Given the description of an element on the screen output the (x, y) to click on. 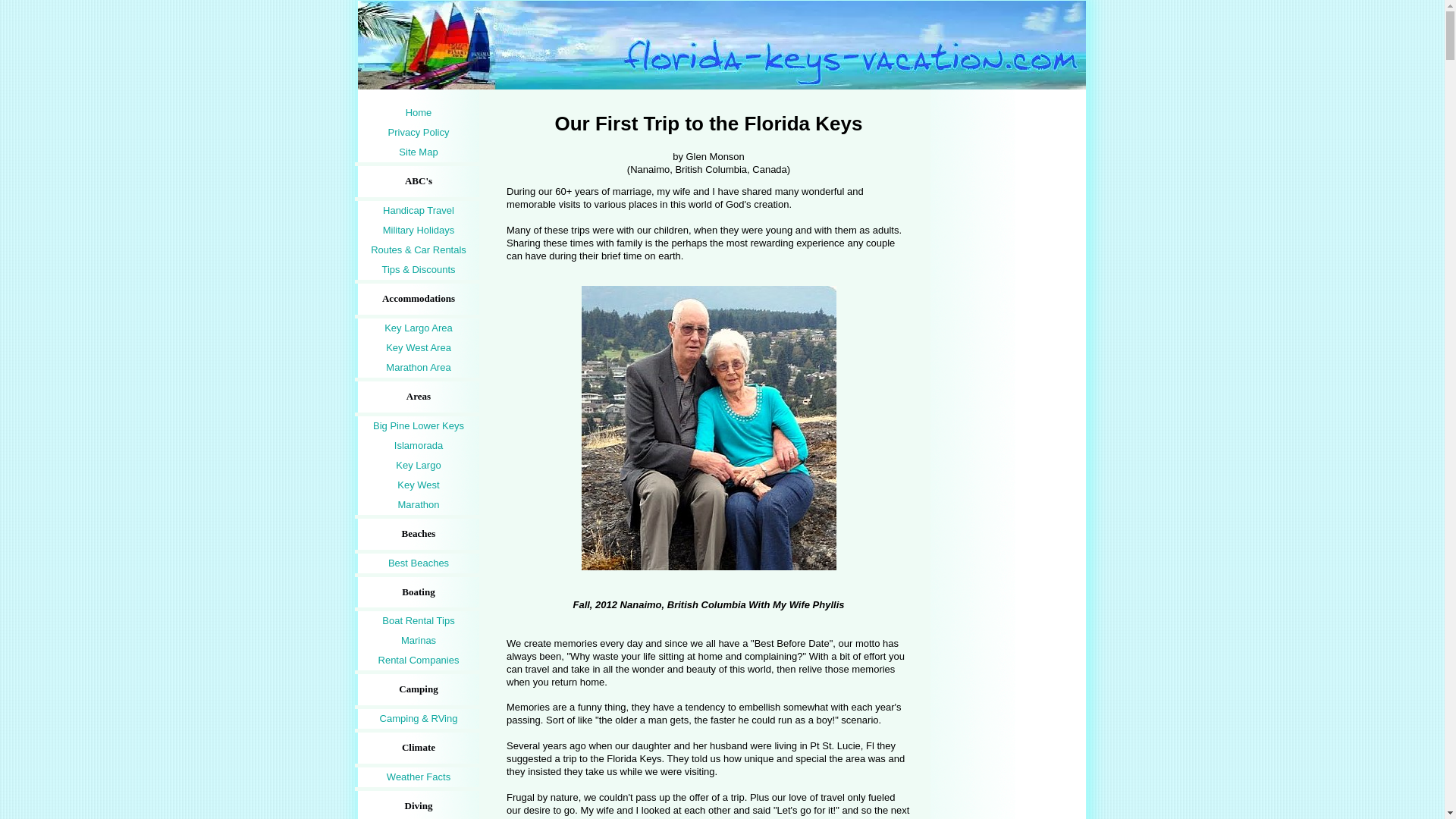
Rental Companies (418, 660)
Site Map (418, 152)
Boat Rental Tips (418, 620)
Big Pine Lower Keys (418, 425)
Key West Area (418, 347)
Islamorada (418, 445)
Marathon (418, 505)
Marathon Area (418, 367)
Marinas (418, 640)
Key Largo Area (418, 328)
